Given the description of an element on the screen output the (x, y) to click on. 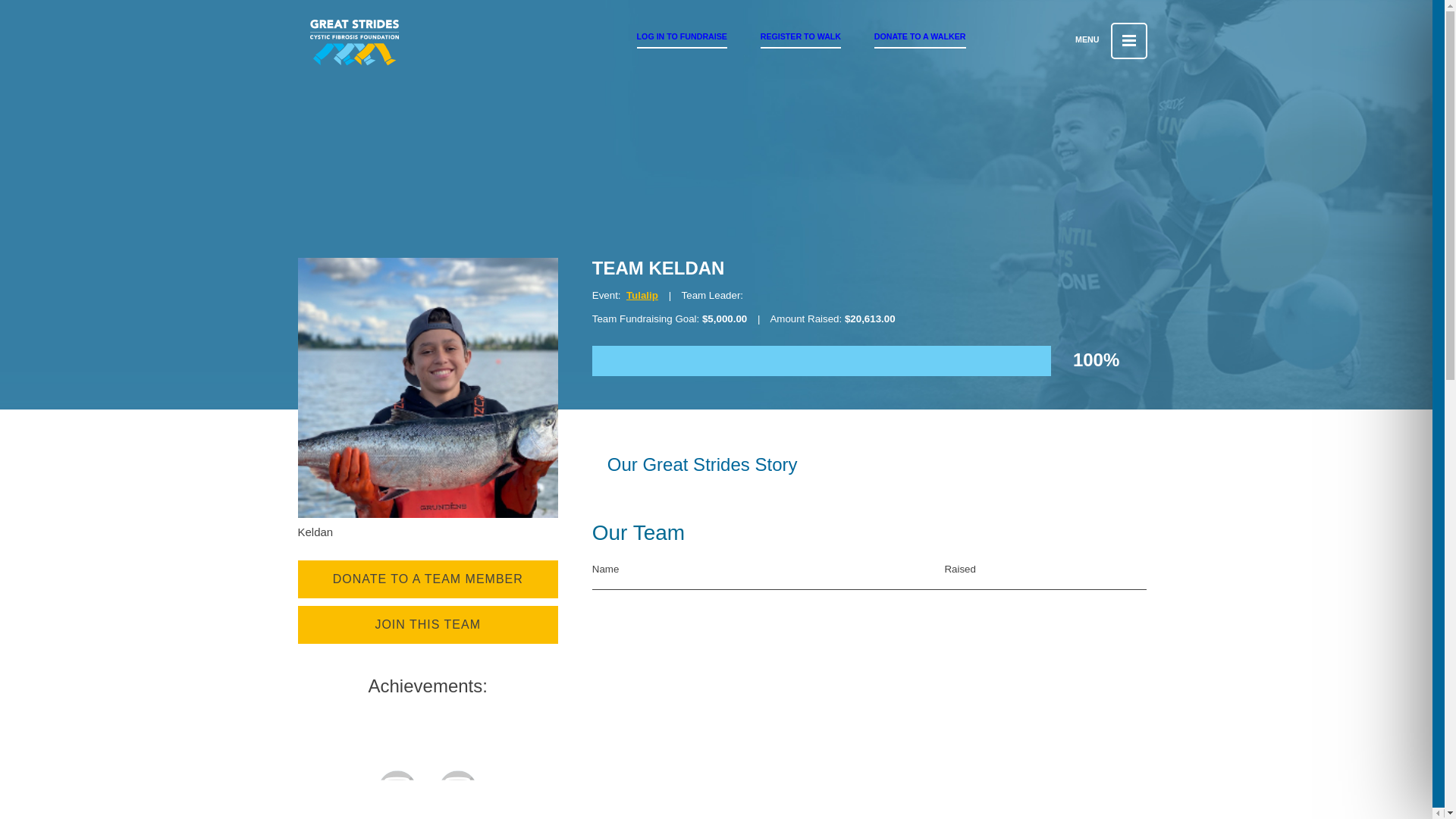
JOIN THIS TEAM (427, 624)
Tulalip (642, 295)
DONATE TO A TEAM MEMBER (427, 579)
LOG IN TO FUNDRAISE (681, 36)
REGISTER TO WALK (800, 36)
DONATE TO A WALKER (920, 36)
